Given the description of an element on the screen output the (x, y) to click on. 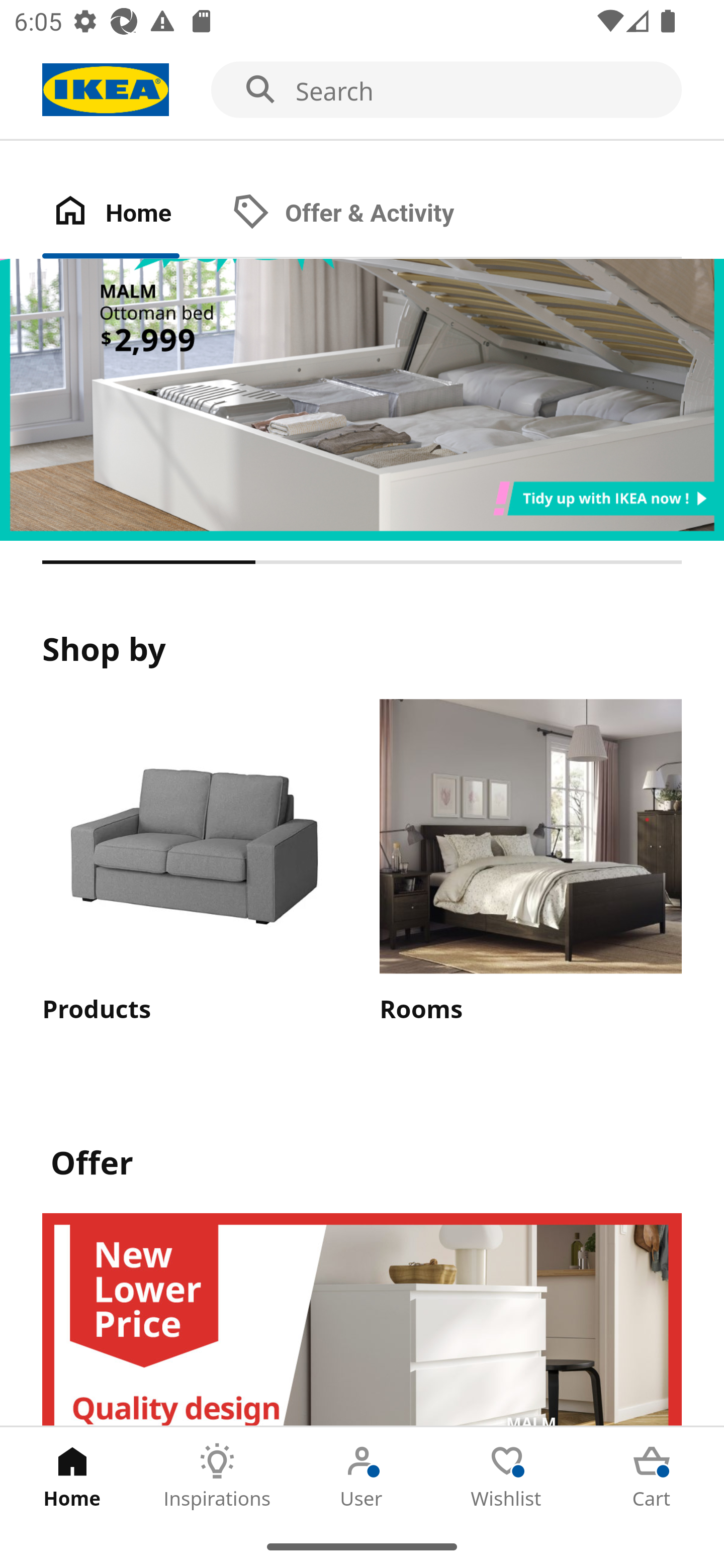
Search (361, 90)
Home
Tab 1 of 2 (131, 213)
Offer & Activity
Tab 2 of 2 (363, 213)
Products (192, 863)
Rooms (530, 863)
Home
Tab 1 of 5 (72, 1476)
Inspirations
Tab 2 of 5 (216, 1476)
User
Tab 3 of 5 (361, 1476)
Wishlist
Tab 4 of 5 (506, 1476)
Cart
Tab 5 of 5 (651, 1476)
